Given the description of an element on the screen output the (x, y) to click on. 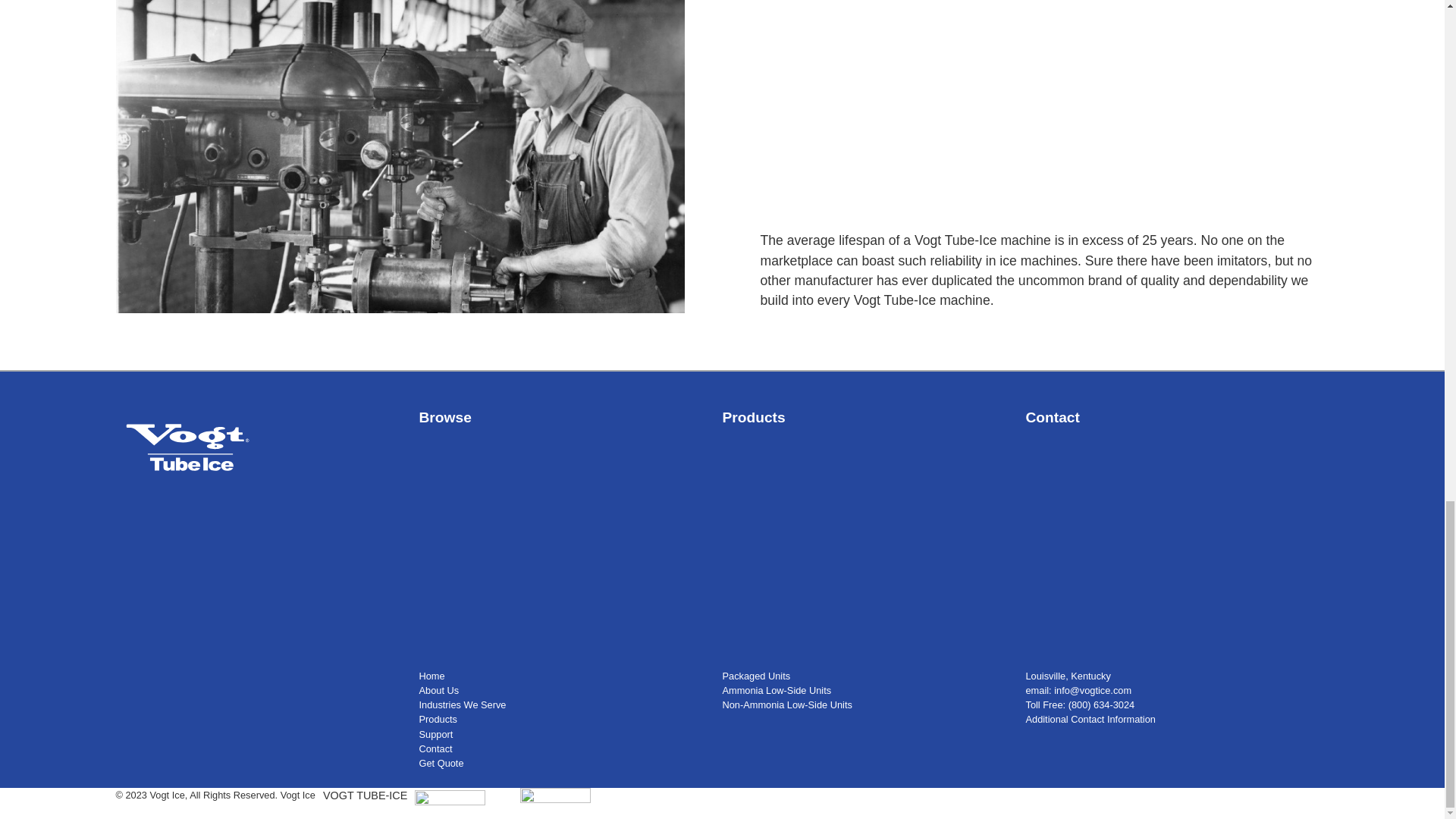
About Us (438, 690)
Home (431, 675)
